Given the description of an element on the screen output the (x, y) to click on. 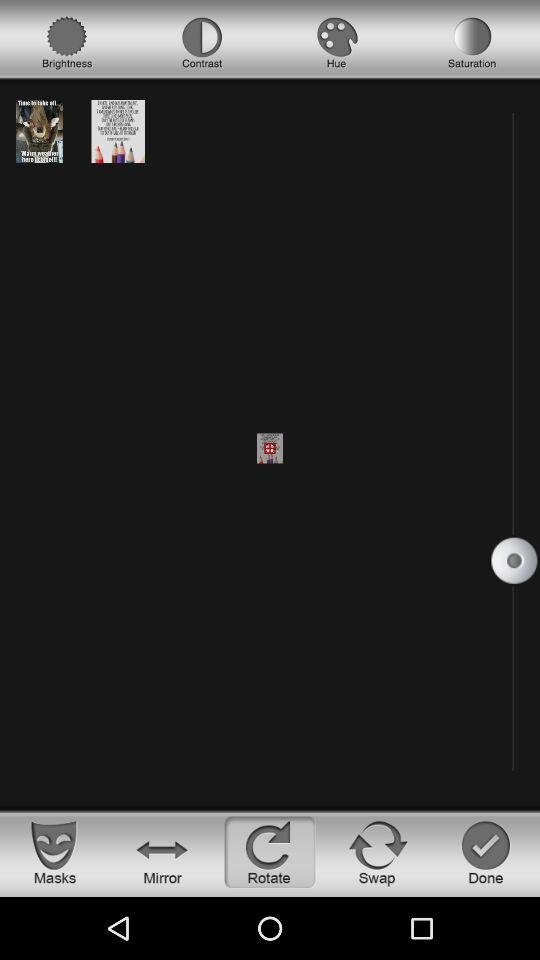
mirror image (161, 852)
